Given the description of an element on the screen output the (x, y) to click on. 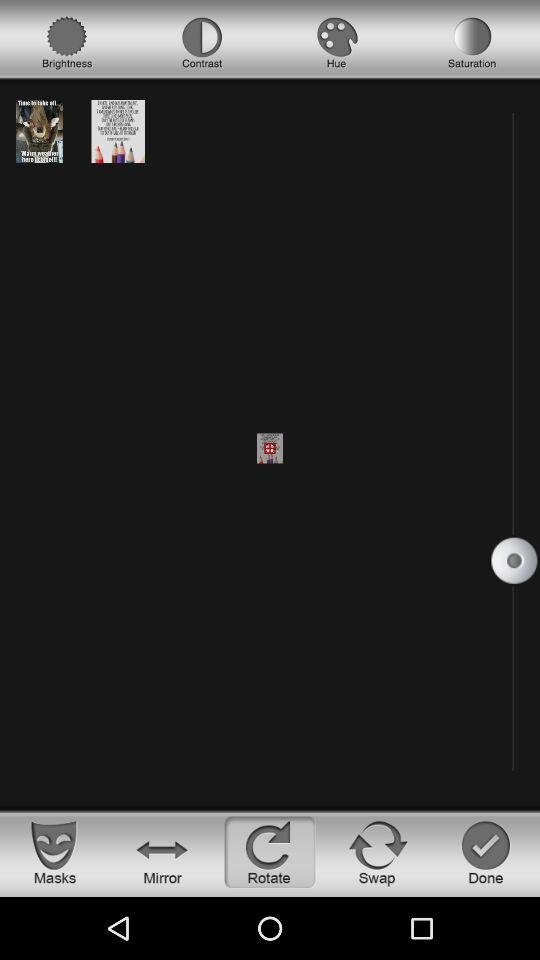
mirror image (161, 852)
